Given the description of an element on the screen output the (x, y) to click on. 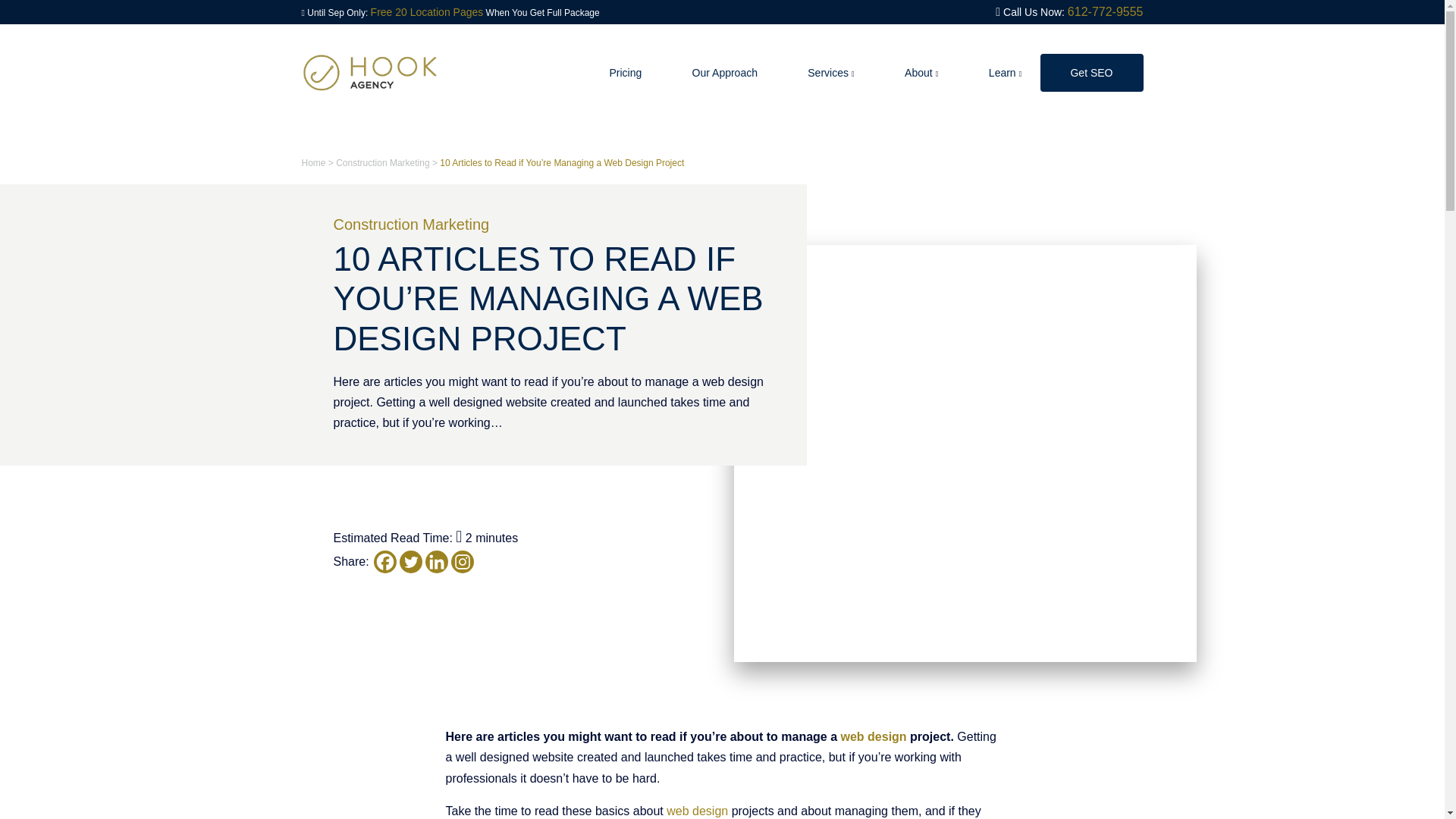
Facebook (385, 561)
Services (831, 72)
About (920, 72)
Our Approach (725, 72)
Instagram (462, 561)
Learn (1005, 72)
Pricing (626, 72)
 Call Us Now: 612-772-9555 (1068, 12)
Twitter (410, 561)
Get SEO (1091, 73)
